Given the description of an element on the screen output the (x, y) to click on. 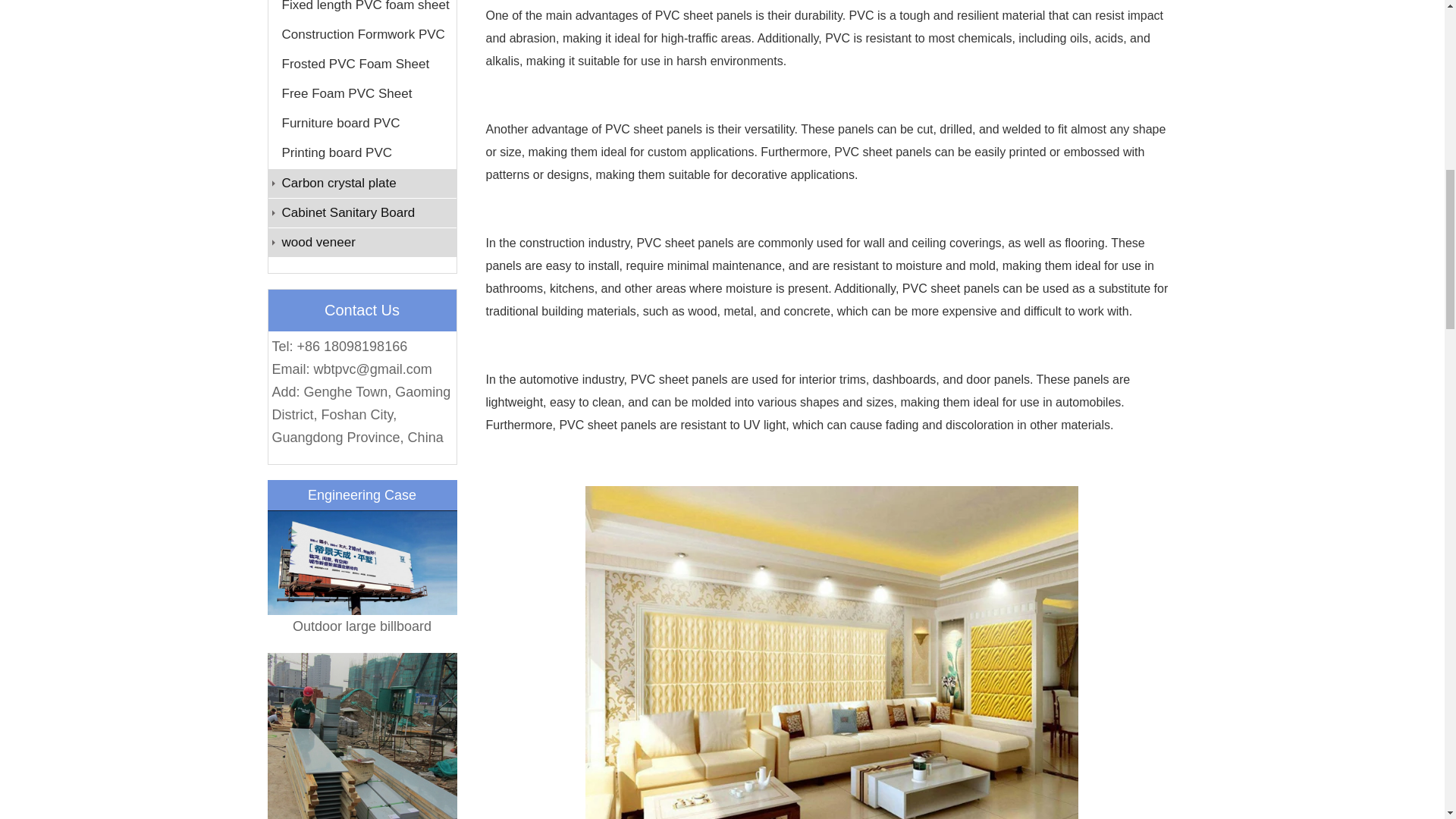
Carbon crystal plate (362, 183)
Fixed length PVC foam sheet (362, 9)
wood veneer (362, 242)
Furniture board PVC (362, 123)
Free Foam PVC Sheet (362, 93)
Post baffle (361, 735)
Outdoor large billboard (361, 574)
Printing board PVC (362, 152)
Frosted PVC Foam Sheet (362, 63)
